Given the description of an element on the screen output the (x, y) to click on. 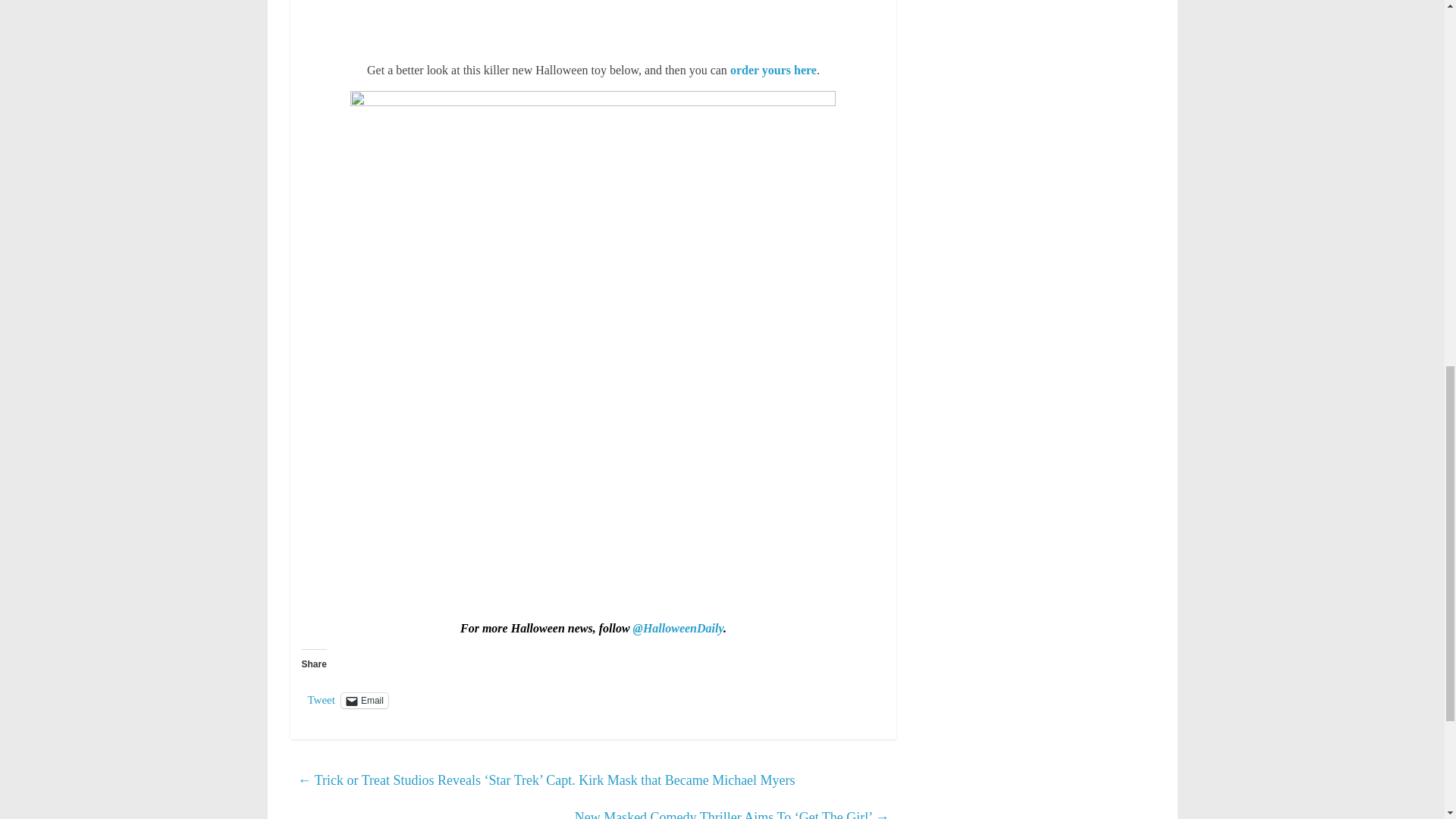
order yours here (773, 69)
Email (364, 700)
Click to email a link to a friend (364, 700)
Tweet (320, 699)
